Given the description of an element on the screen output the (x, y) to click on. 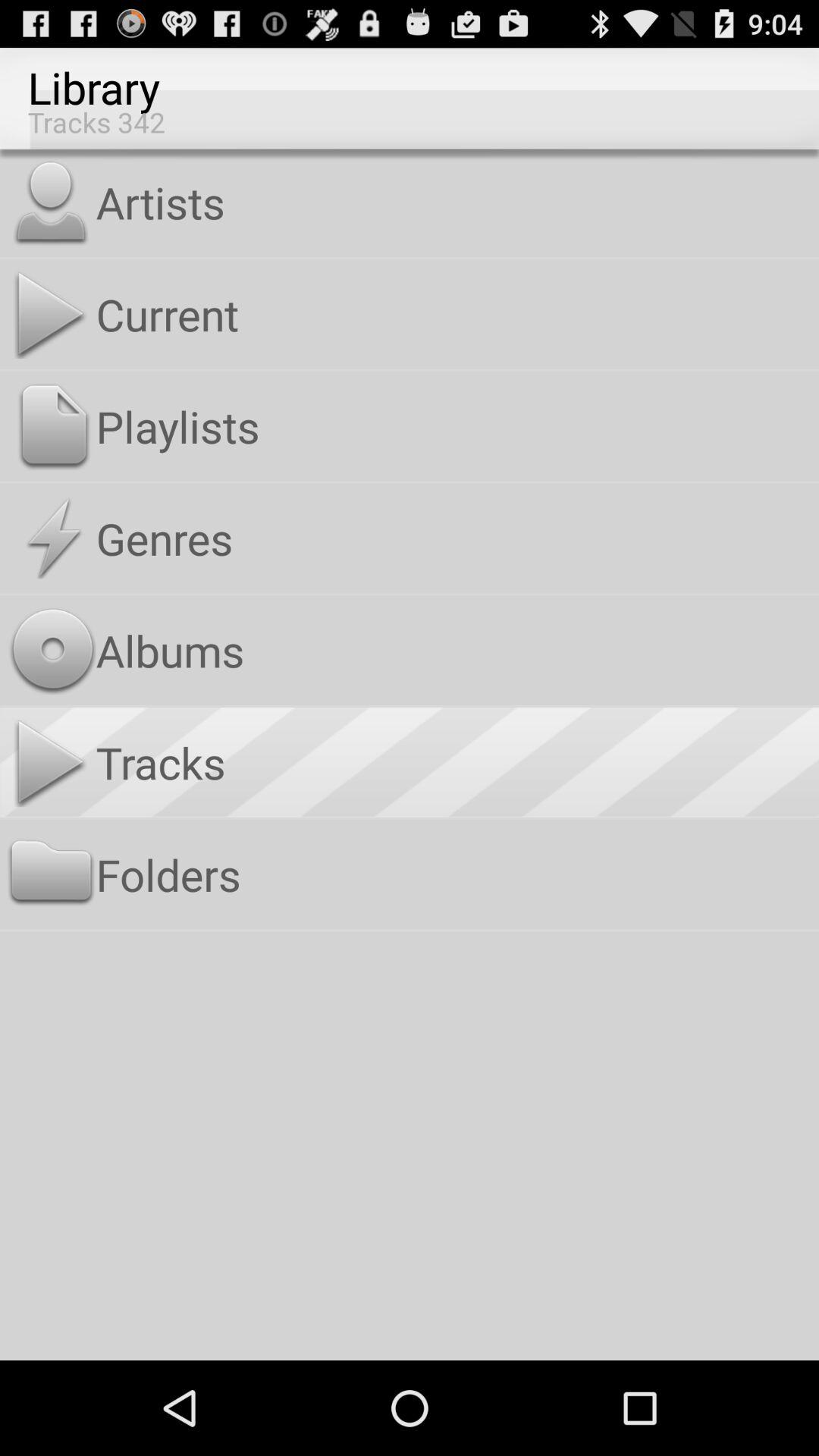
scroll until the current item (454, 313)
